Given the description of an element on the screen output the (x, y) to click on. 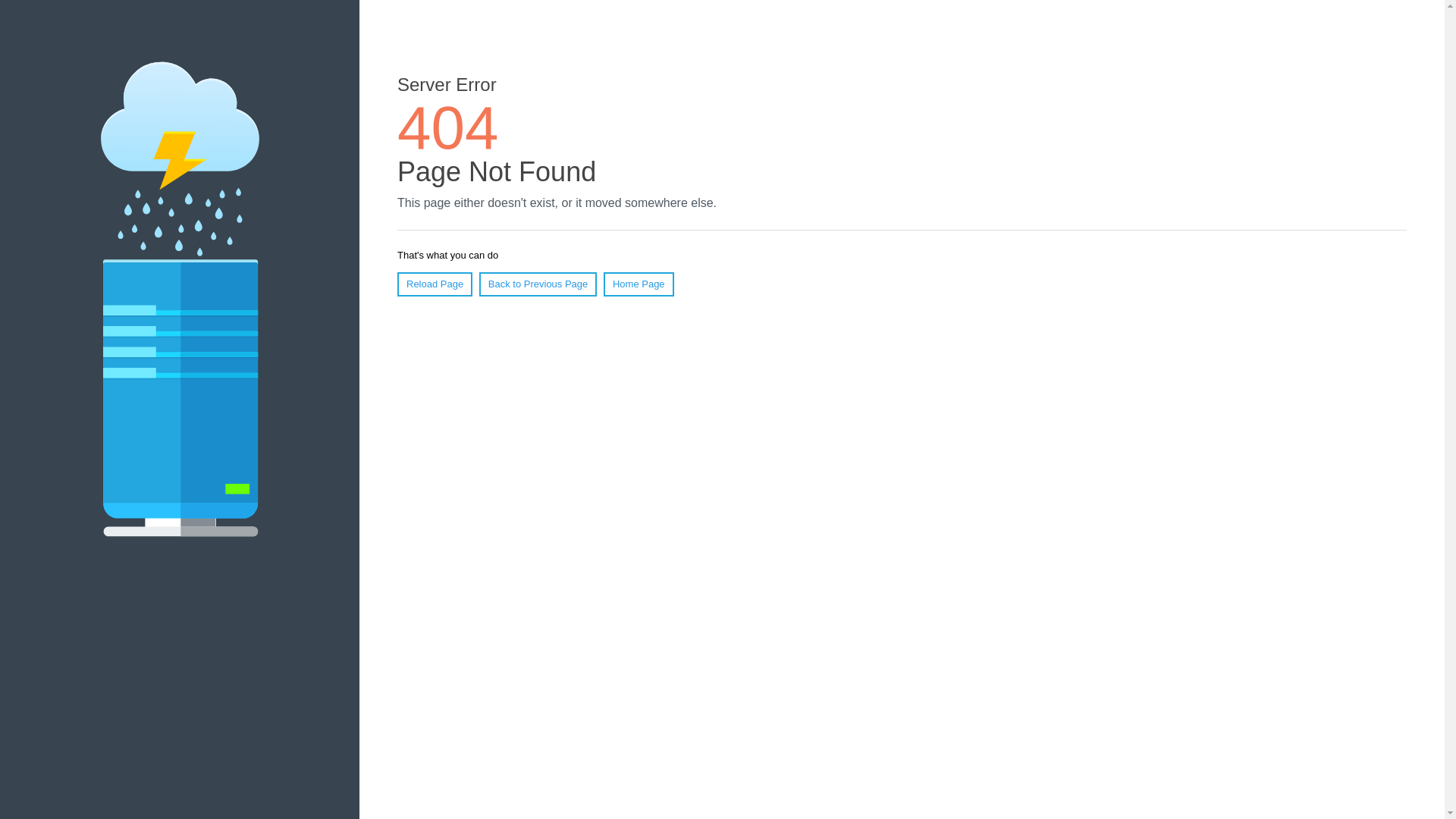
Home Page Element type: text (638, 284)
Back to Previous Page Element type: text (538, 284)
Reload Page Element type: text (434, 284)
